Given the description of an element on the screen output the (x, y) to click on. 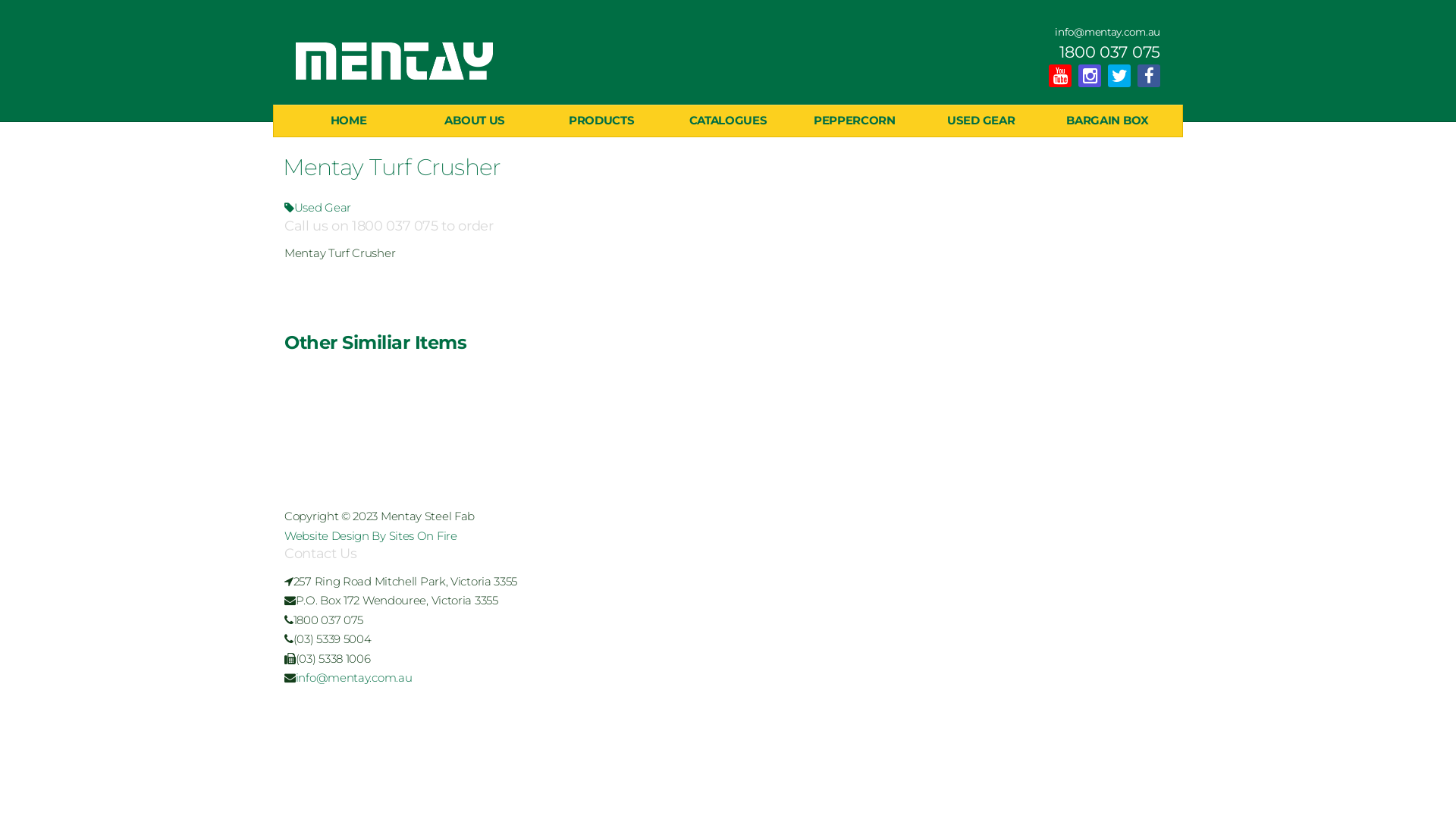
Website Design By Sites On Fire Element type: text (370, 535)
USED GEAR Element type: text (980, 120)
BARGAIN BOX Element type: text (1107, 120)
HOME Element type: text (348, 120)
ABOUT US Element type: text (474, 120)
PEPPERCORN Element type: text (853, 120)
CATALOGUES Element type: text (728, 120)
PRODUCTS Element type: text (601, 120)
info@mentay.com.au Element type: text (1107, 31)
info@mentay.com.au Element type: text (353, 677)
